Given the description of an element on the screen output the (x, y) to click on. 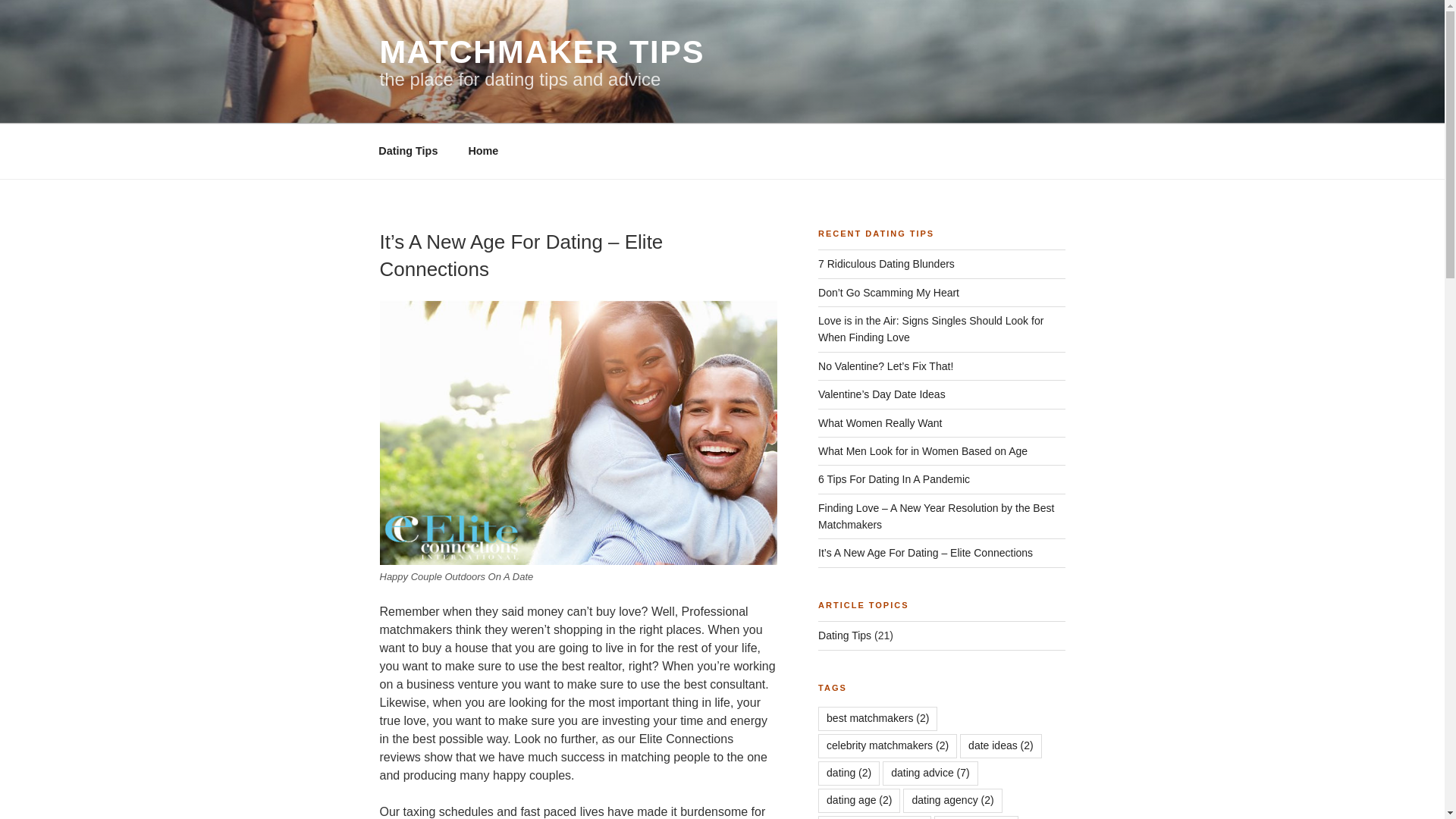
What Men Look for in Women Based on Age (922, 451)
Home (483, 150)
6 Tips For Dating In A Pandemic (893, 479)
7 Ridiculous Dating Blunders (886, 263)
Dating Tips (844, 635)
Dating Tips (408, 150)
MATCHMAKER TIPS (541, 51)
What Women Really Want (880, 422)
